Given the description of an element on the screen output the (x, y) to click on. 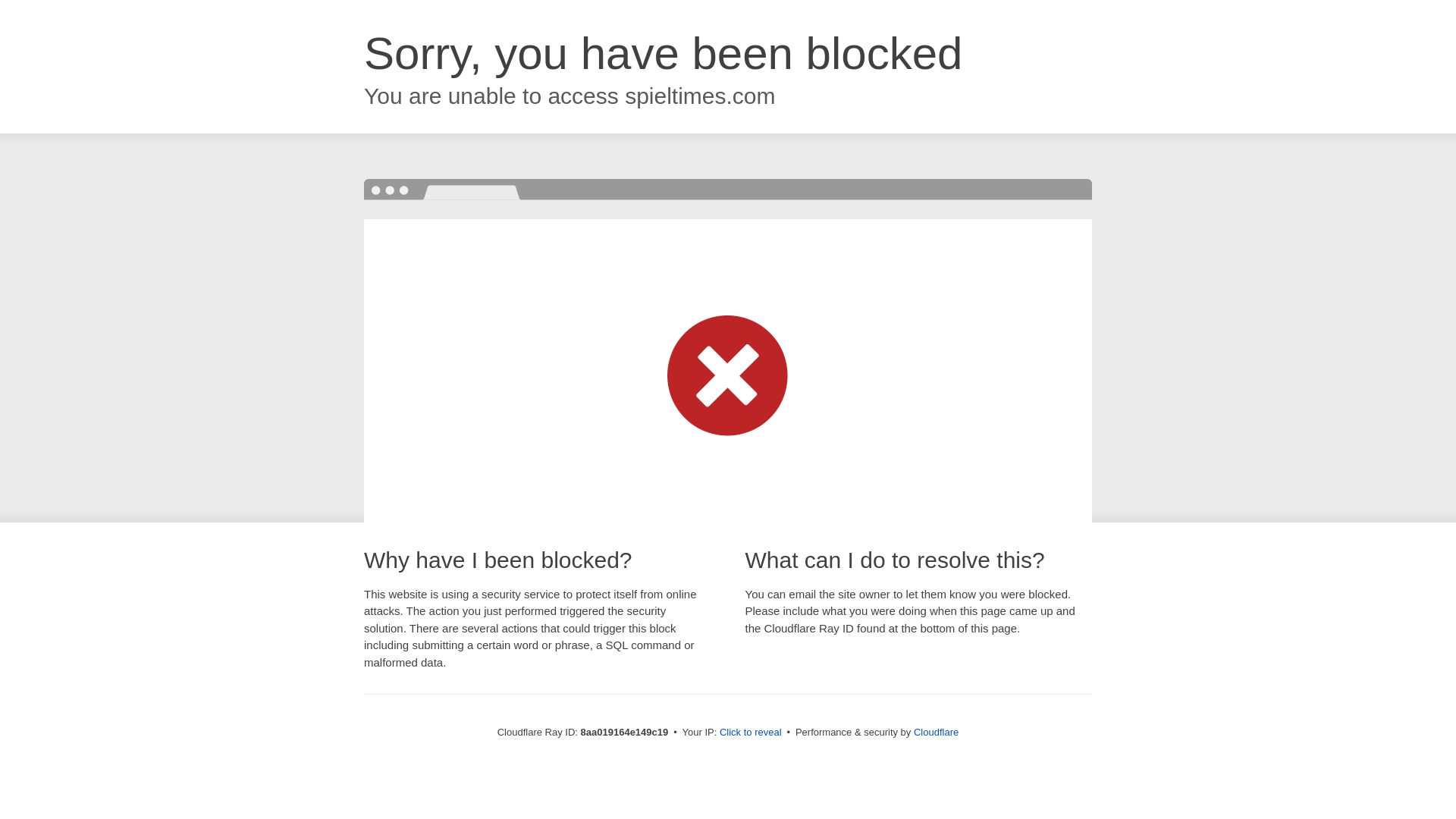
Click to reveal (750, 732)
Cloudflare (936, 731)
